Given the description of an element on the screen output the (x, y) to click on. 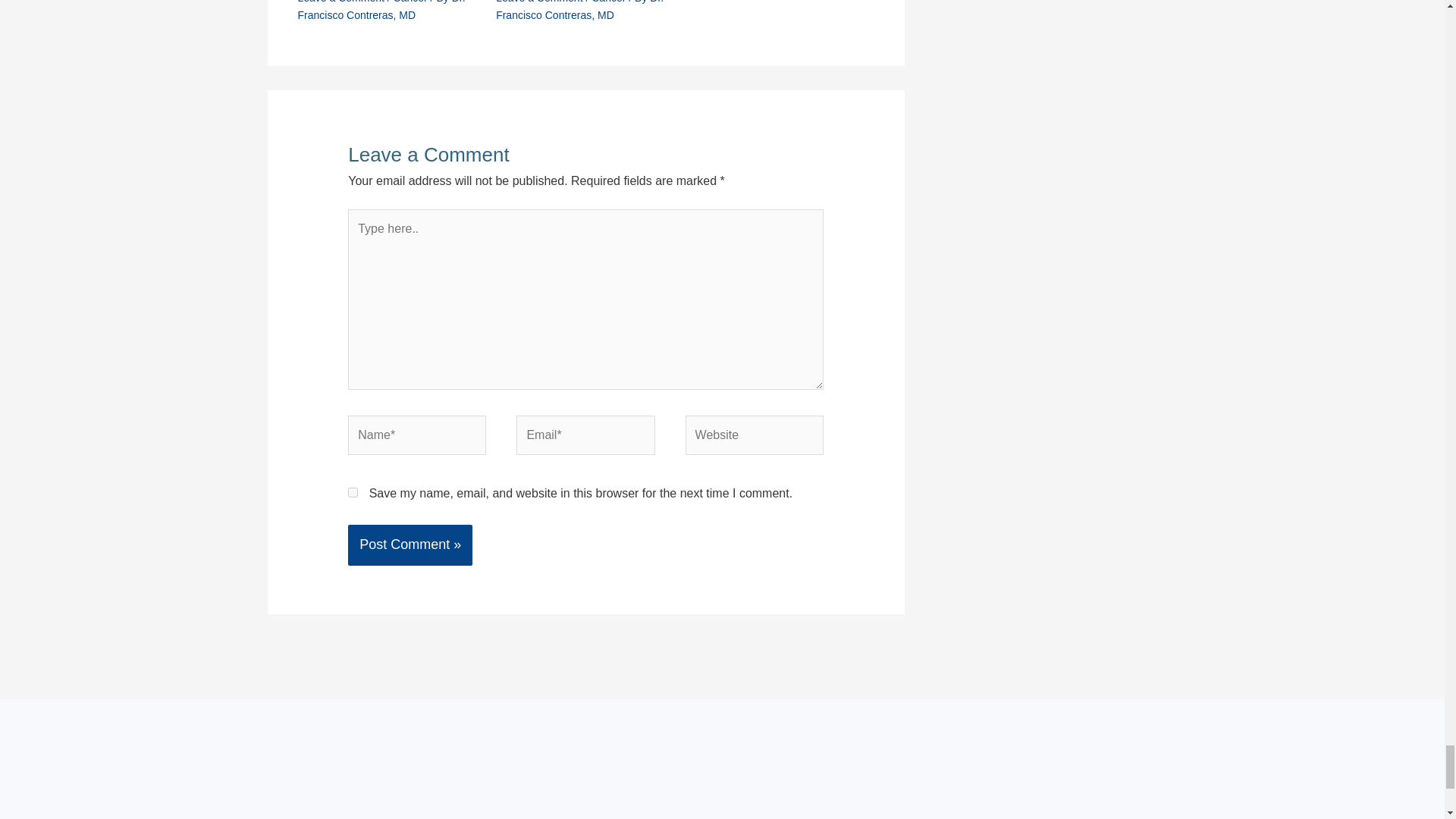
yes (352, 492)
